Given the description of an element on the screen output the (x, y) to click on. 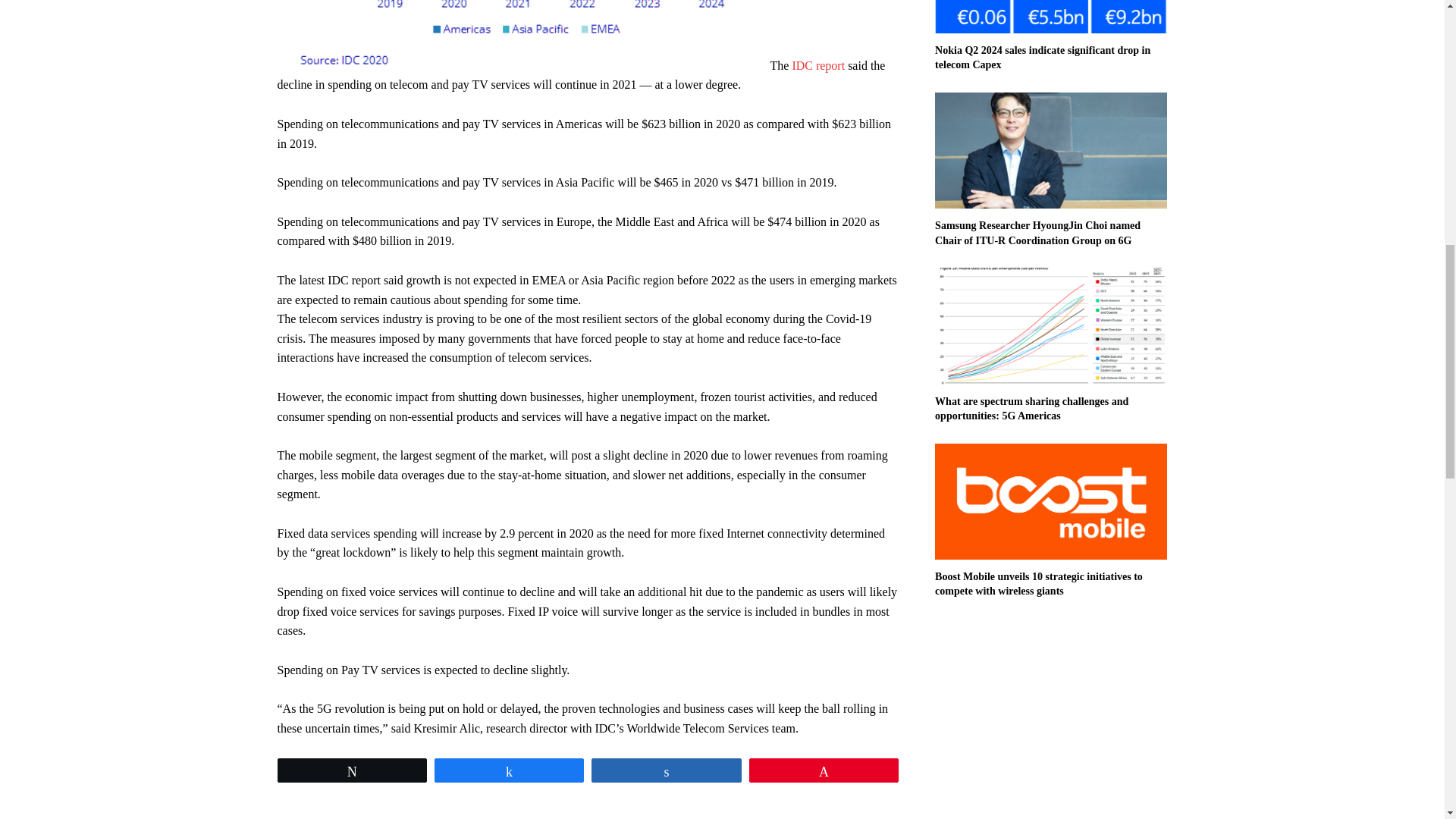
IDC report (818, 65)
